Given the description of an element on the screen output the (x, y) to click on. 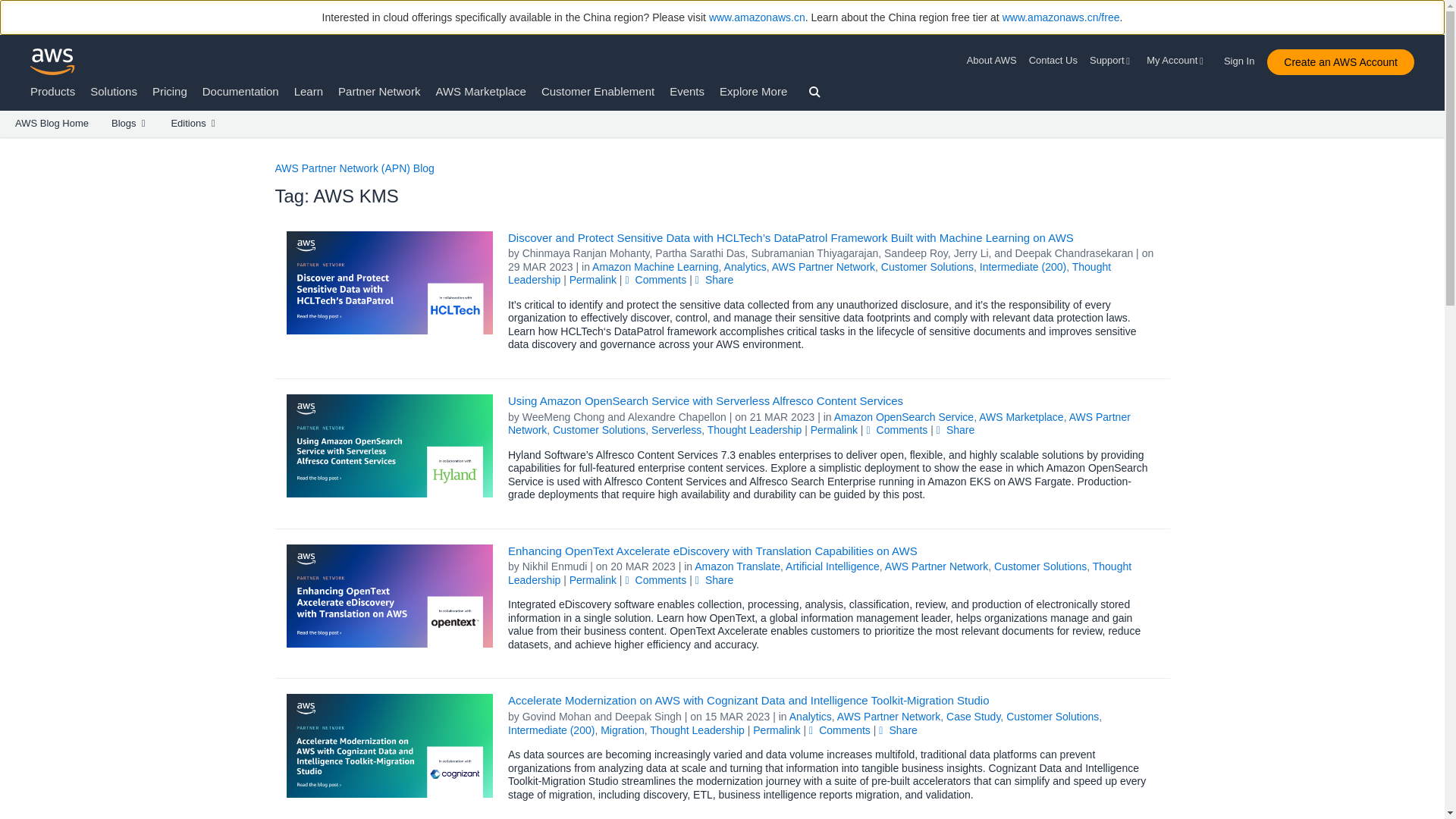
Documentation (240, 91)
View all posts in Amazon Machine Learning (655, 266)
Pricing (169, 91)
AWS Marketplace (480, 91)
Products (52, 91)
Click here to return to Amazon Web Services homepage (52, 61)
Events (686, 91)
View all posts in AWS Partner Network (823, 266)
View all posts in Thought Leadership (809, 273)
Skip to Main Content (7, 143)
Sign In (1243, 58)
Support  (1111, 60)
Contact Us (1053, 60)
Learn (308, 91)
About AWS (994, 60)
